Given the description of an element on the screen output the (x, y) to click on. 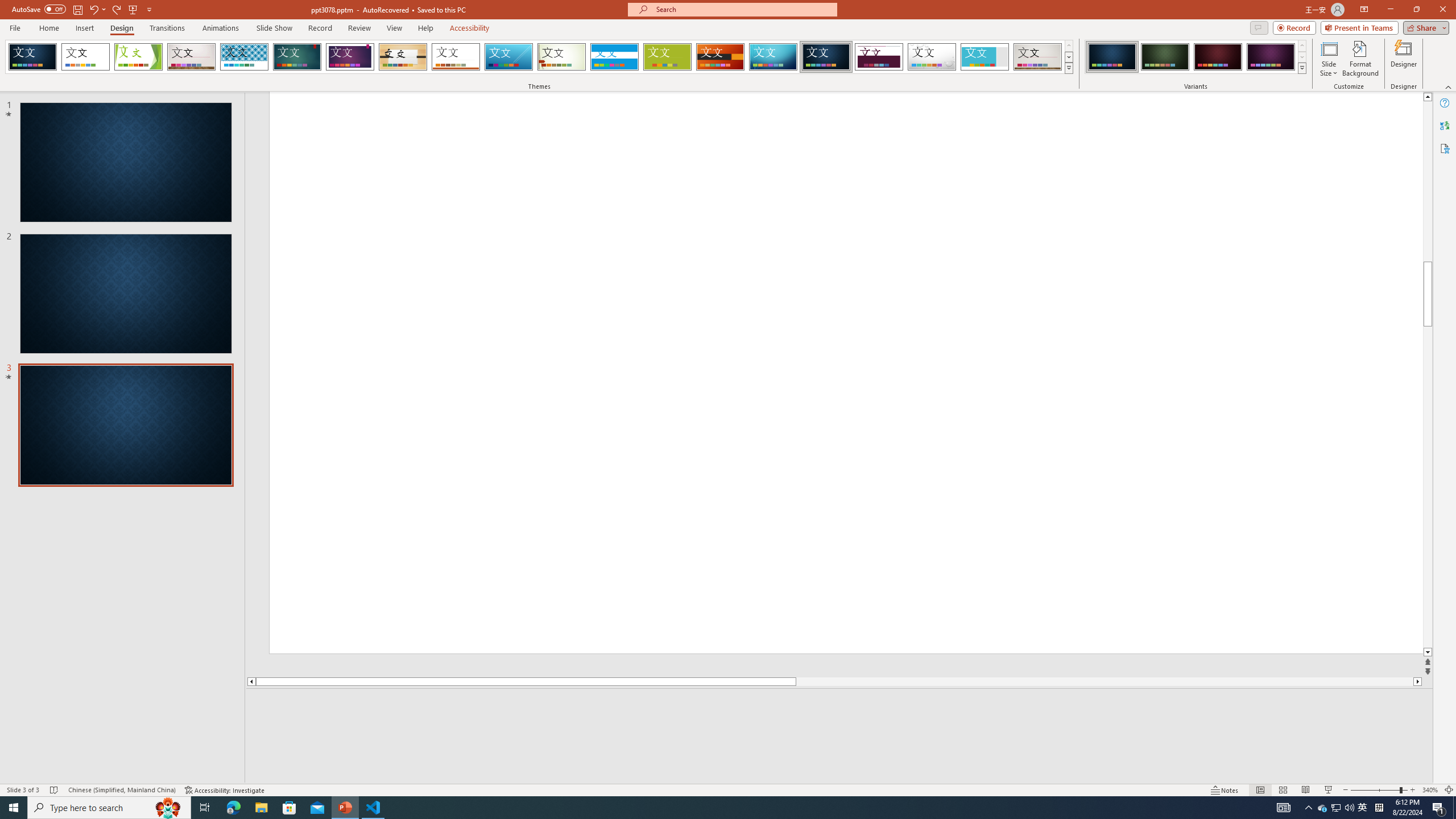
Banded (614, 56)
Berlin (720, 56)
